Given the description of an element on the screen output the (x, y) to click on. 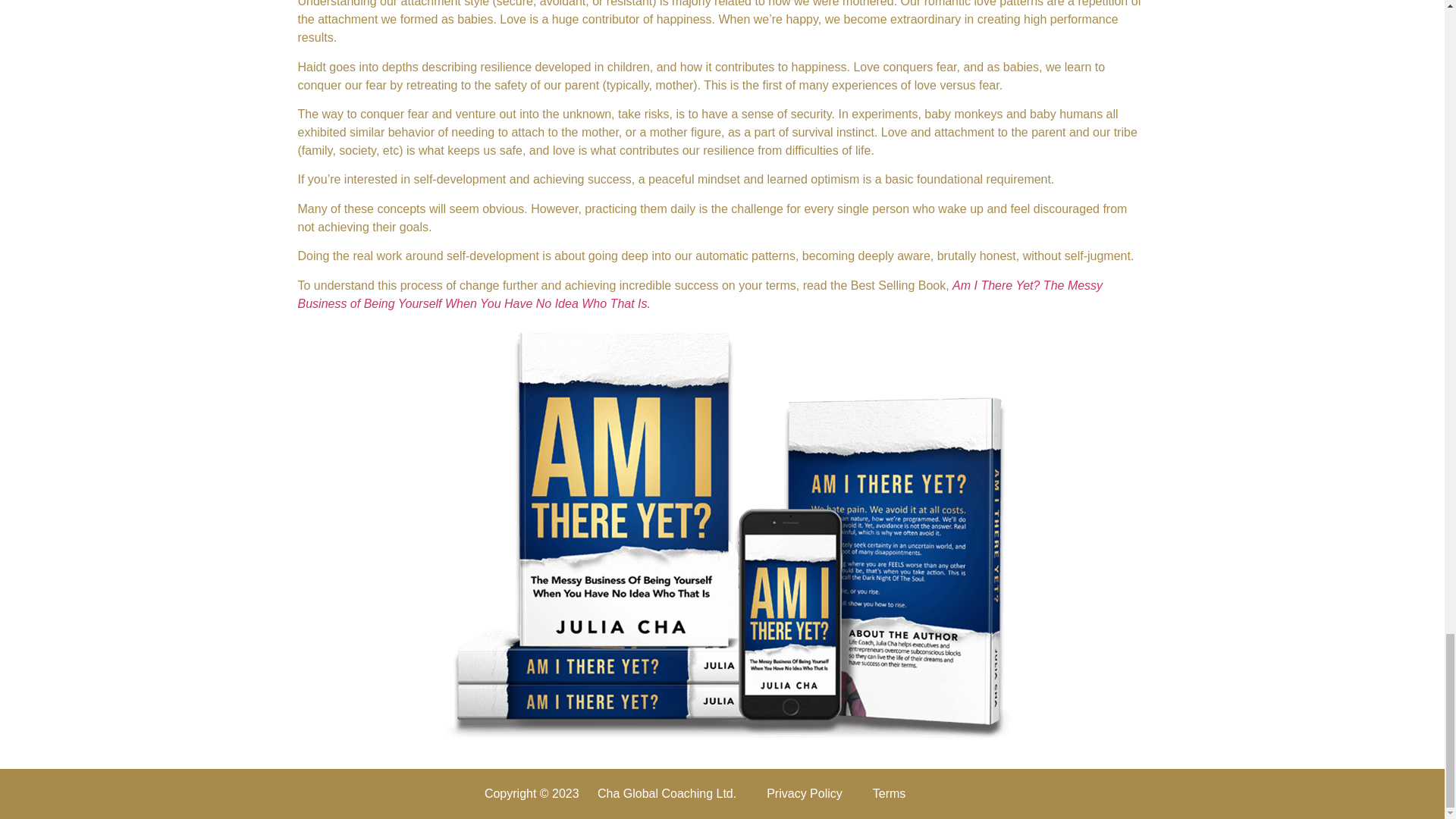
Cha Global Coaching Ltd. (666, 793)
Terms (889, 793)
Privacy Policy (804, 793)
